Given the description of an element on the screen output the (x, y) to click on. 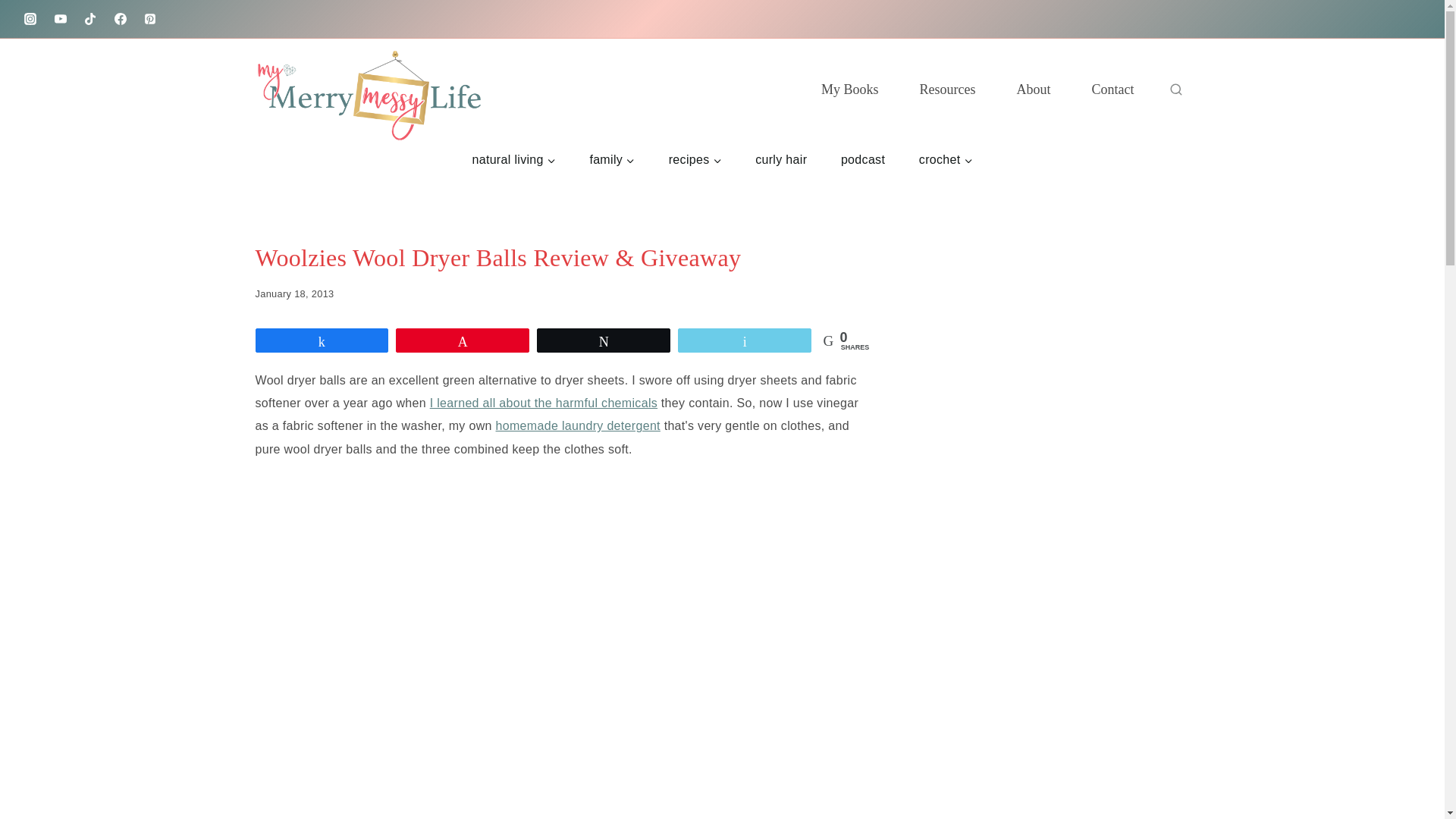
family (611, 159)
My Books (849, 89)
natural living (513, 159)
Contact (1112, 89)
Resources (947, 89)
recipes (694, 159)
About (1033, 89)
